Given the description of an element on the screen output the (x, y) to click on. 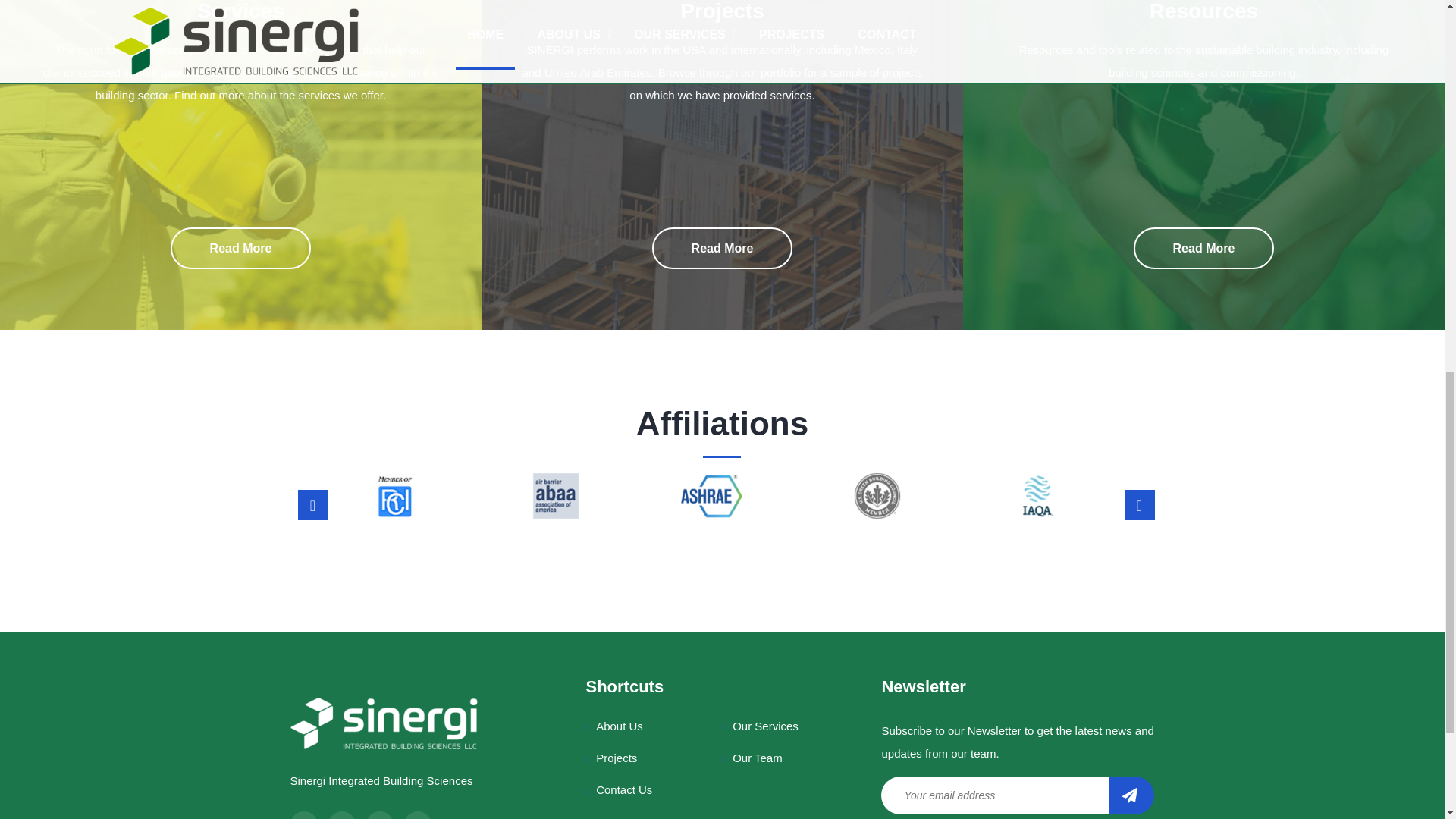
Read More (1204, 248)
Read More (722, 248)
Sign up (1131, 795)
Read More (240, 248)
